Given the description of an element on the screen output the (x, y) to click on. 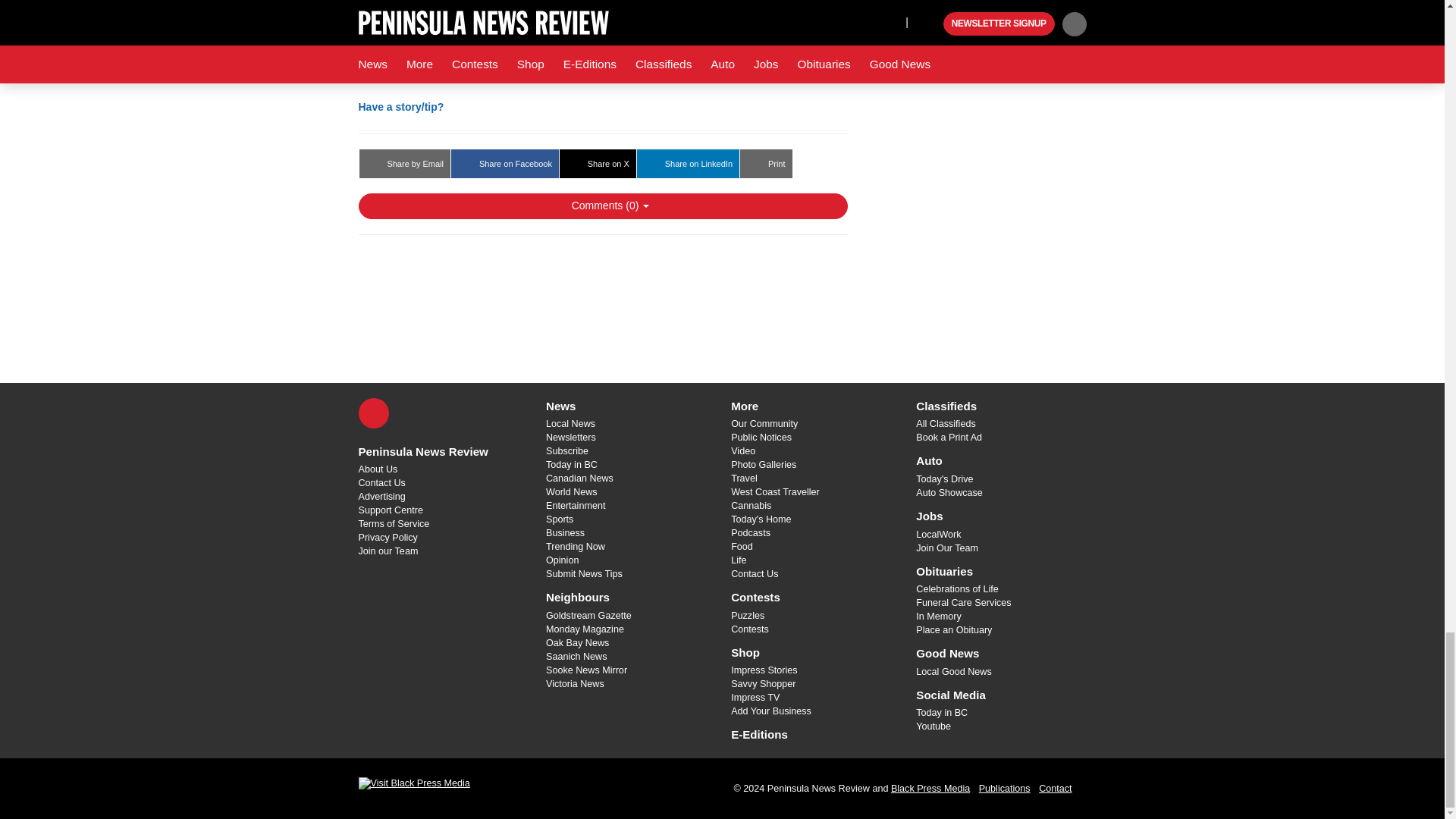
X (373, 413)
Show Comments (602, 206)
